Given the description of an element on the screen output the (x, y) to click on. 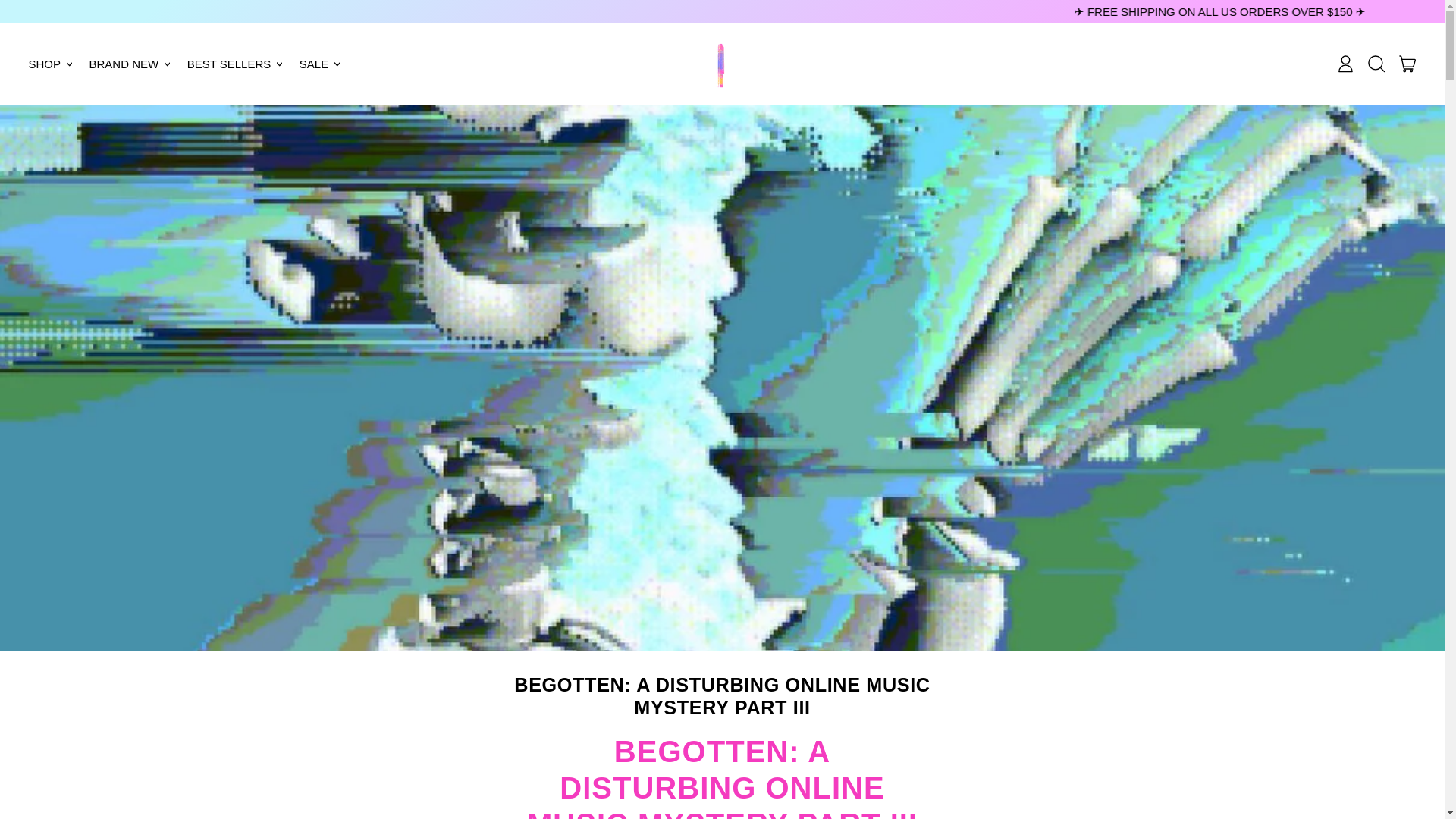
SHOP (51, 64)
